Given the description of an element on the screen output the (x, y) to click on. 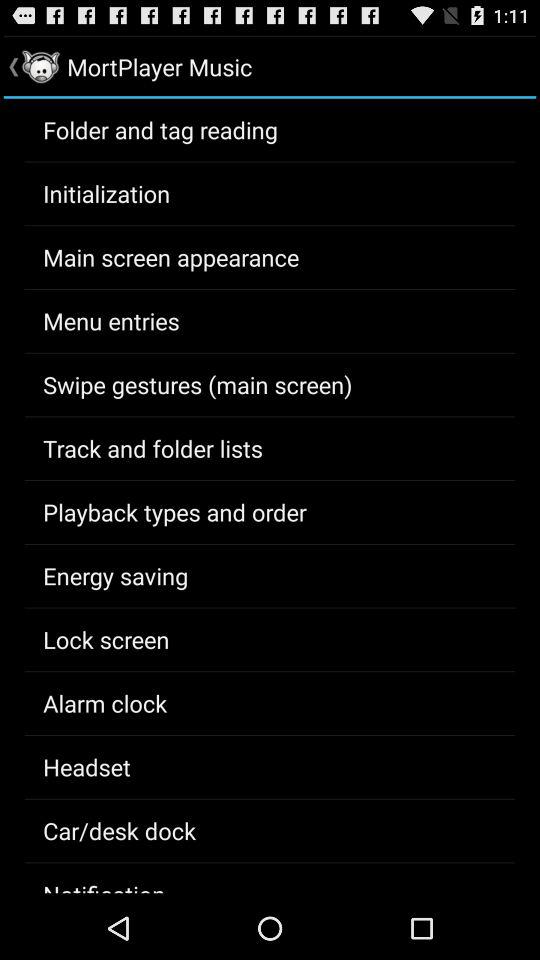
press swipe gestures main (197, 384)
